Given the description of an element on the screen output the (x, y) to click on. 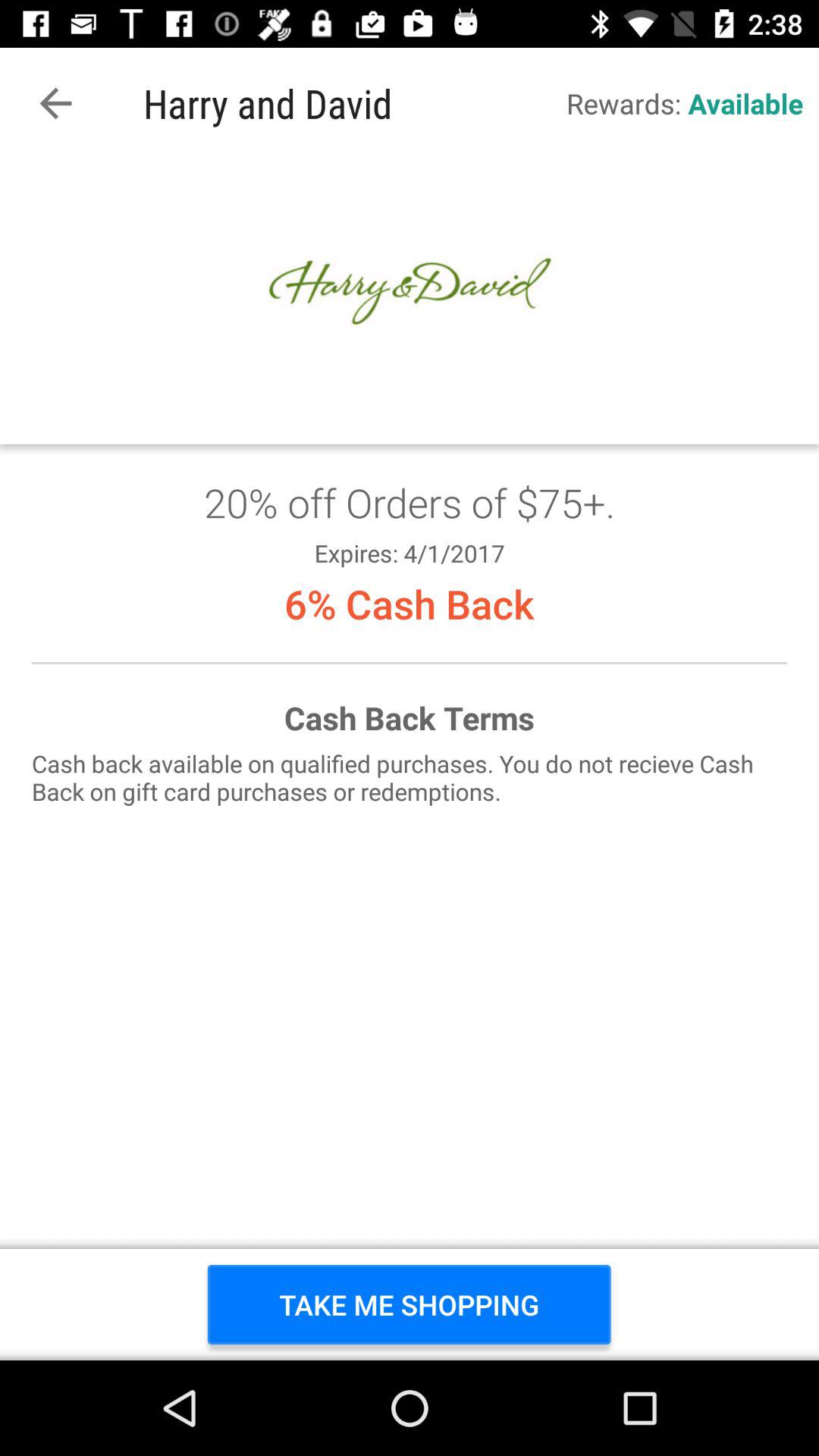
rewards available shop now (409, 759)
